Given the description of an element on the screen output the (x, y) to click on. 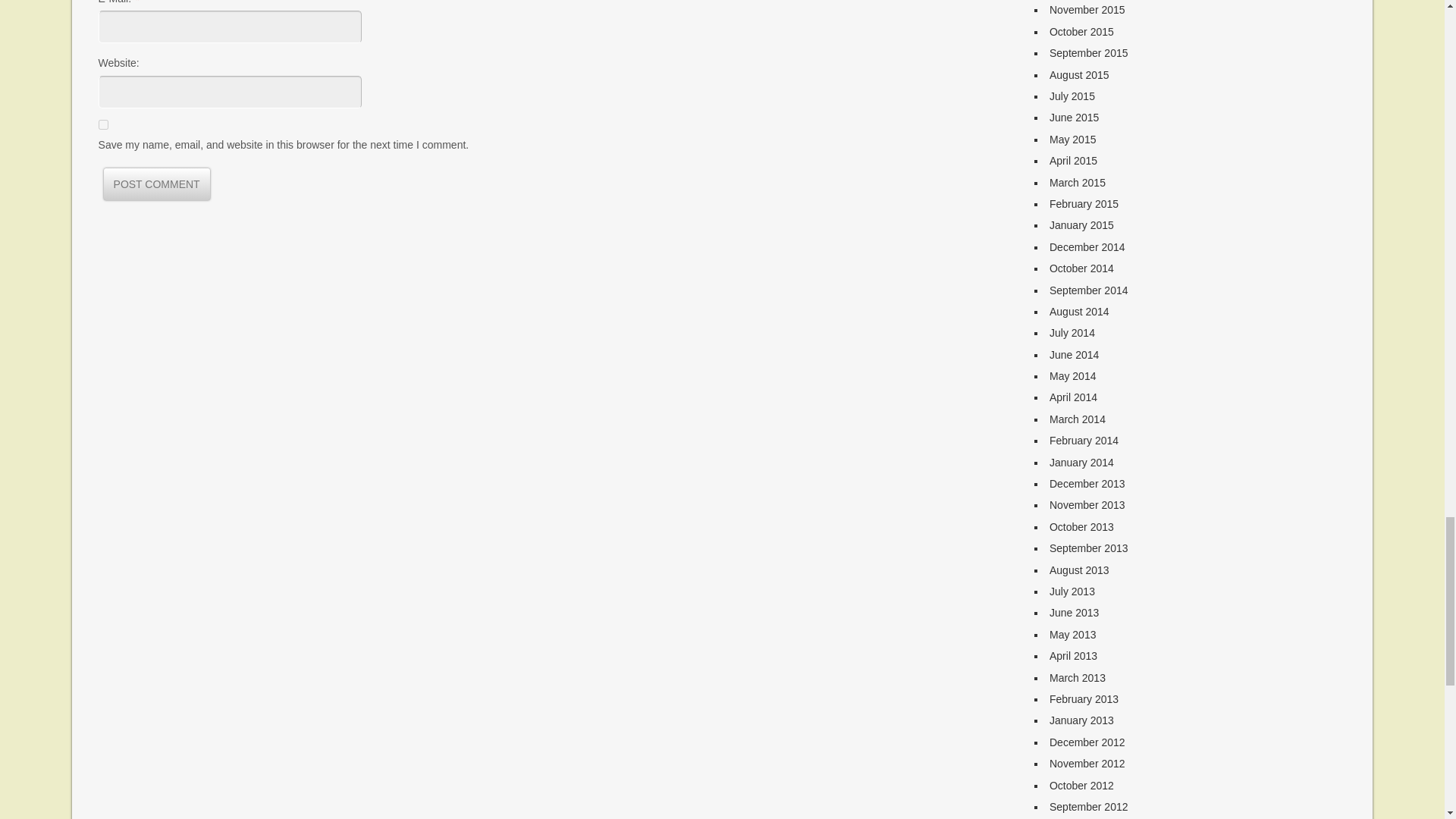
Post Comment (156, 183)
yes (103, 124)
Post Comment (156, 183)
